Given the description of an element on the screen output the (x, y) to click on. 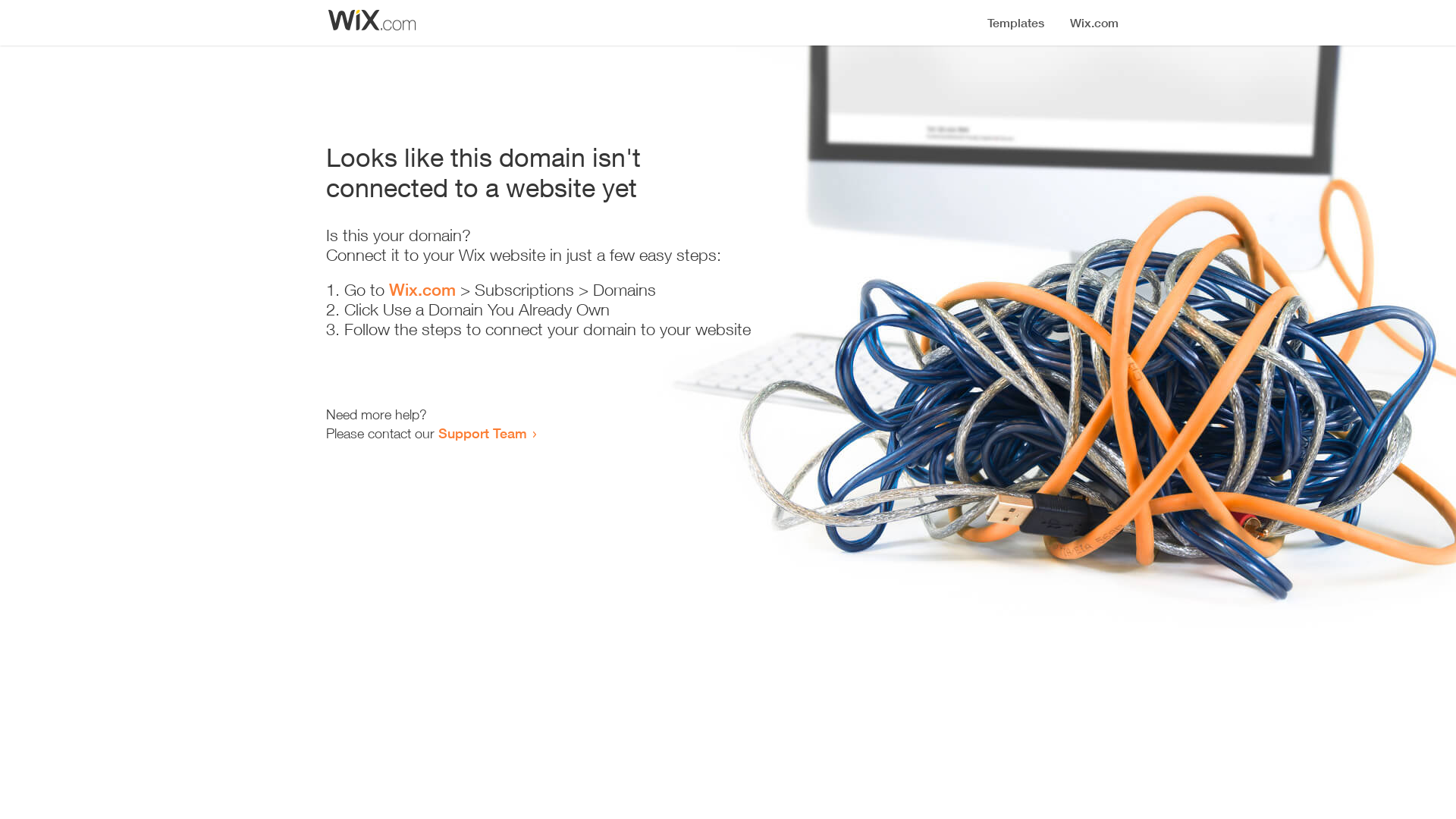
Support Team Element type: text (482, 432)
Wix.com Element type: text (422, 289)
